Given the description of an element on the screen output the (x, y) to click on. 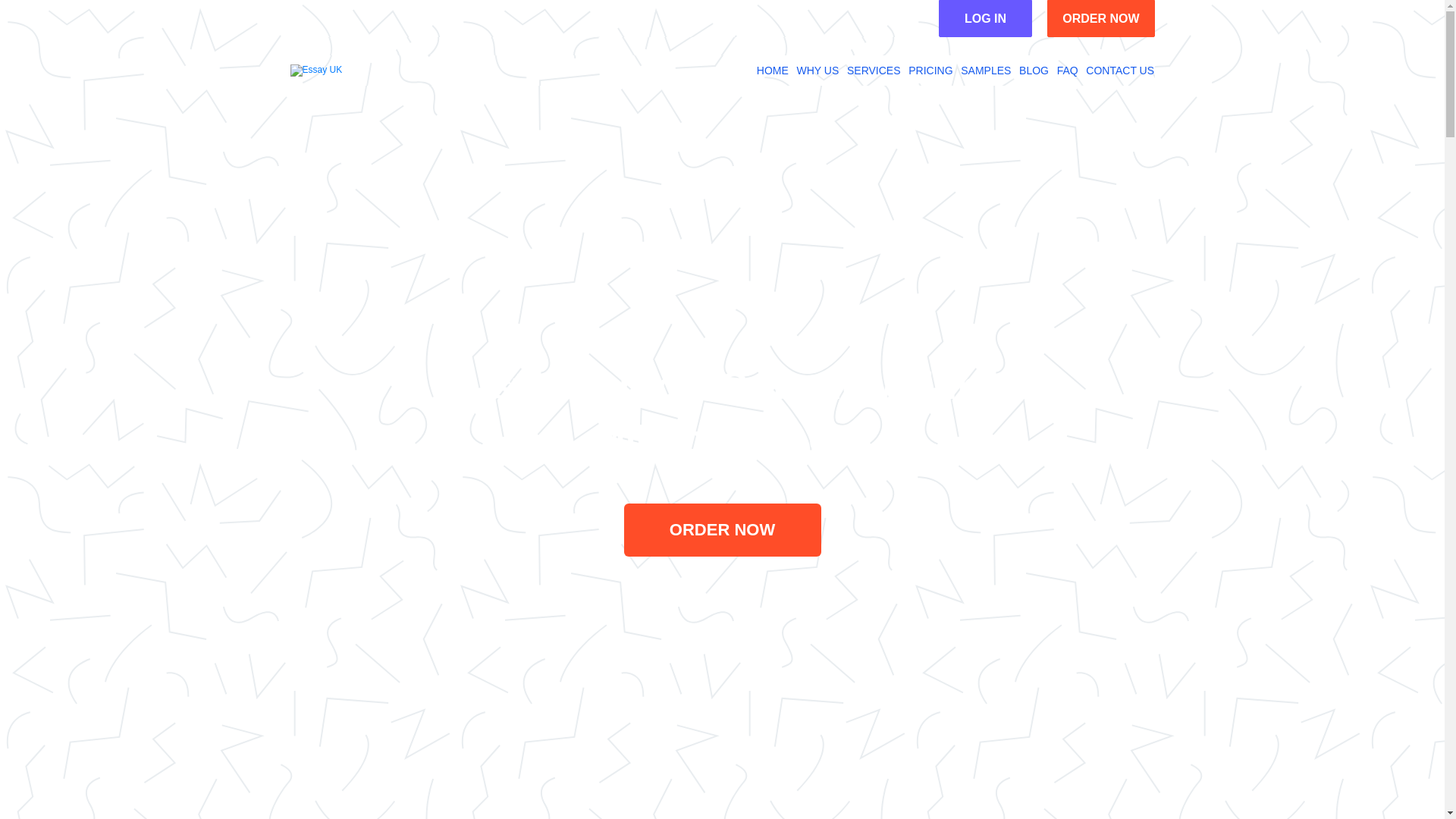
CONTACT US (1120, 70)
Essay UK (315, 70)
ORDER NOW (1100, 18)
ORDER NOW (722, 529)
WHY US (818, 70)
HOME (773, 70)
SERVICES (874, 70)
FAQ (1067, 70)
PRICING (930, 70)
BLOG (1033, 70)
